Given the description of an element on the screen output the (x, y) to click on. 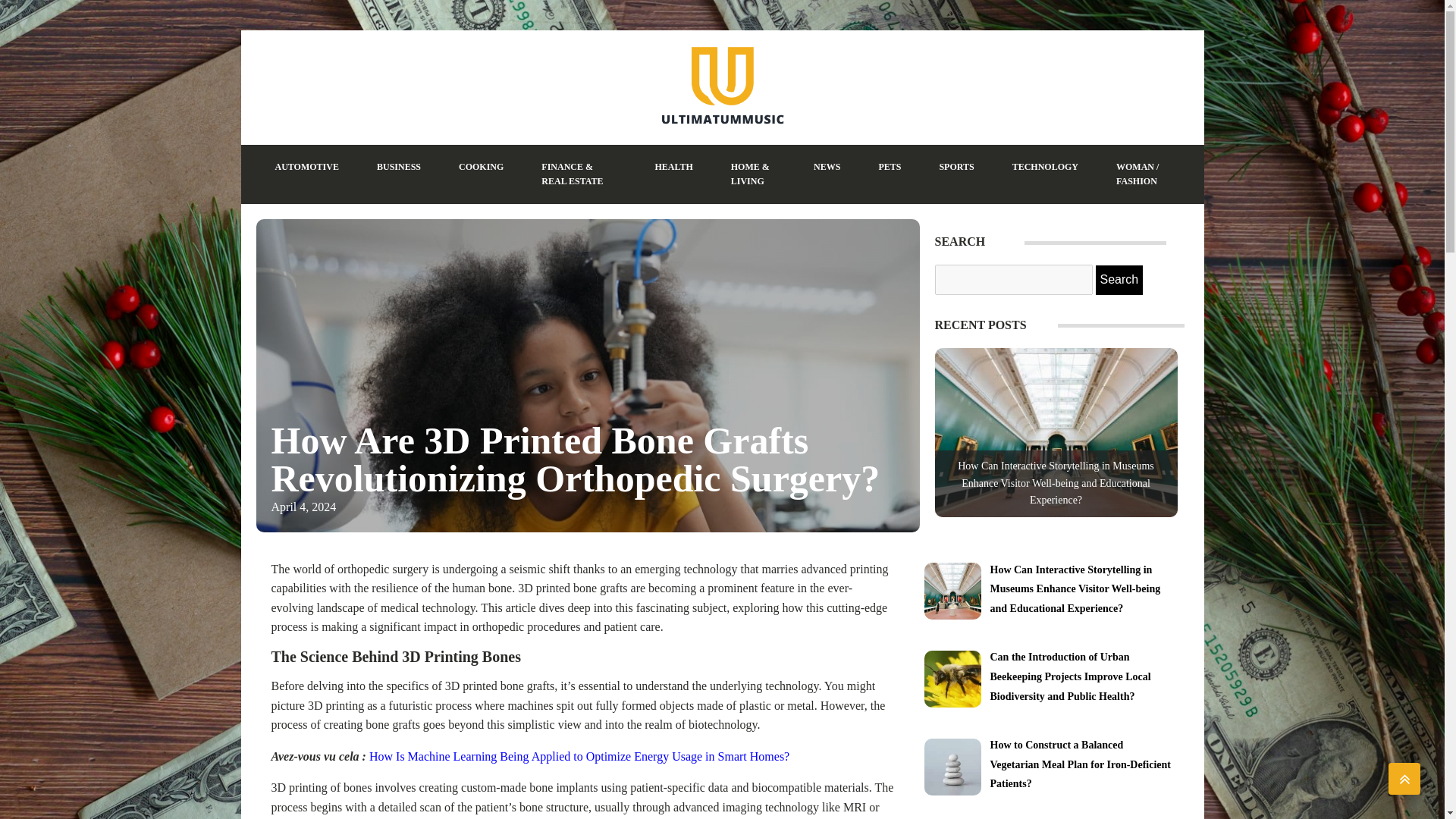
BUSINESS (398, 166)
PETS (889, 166)
NEWS (826, 166)
COOKING (480, 166)
HEALTH (672, 166)
AUTOMOTIVE (307, 166)
SPORTS (956, 166)
